Given the description of an element on the screen output the (x, y) to click on. 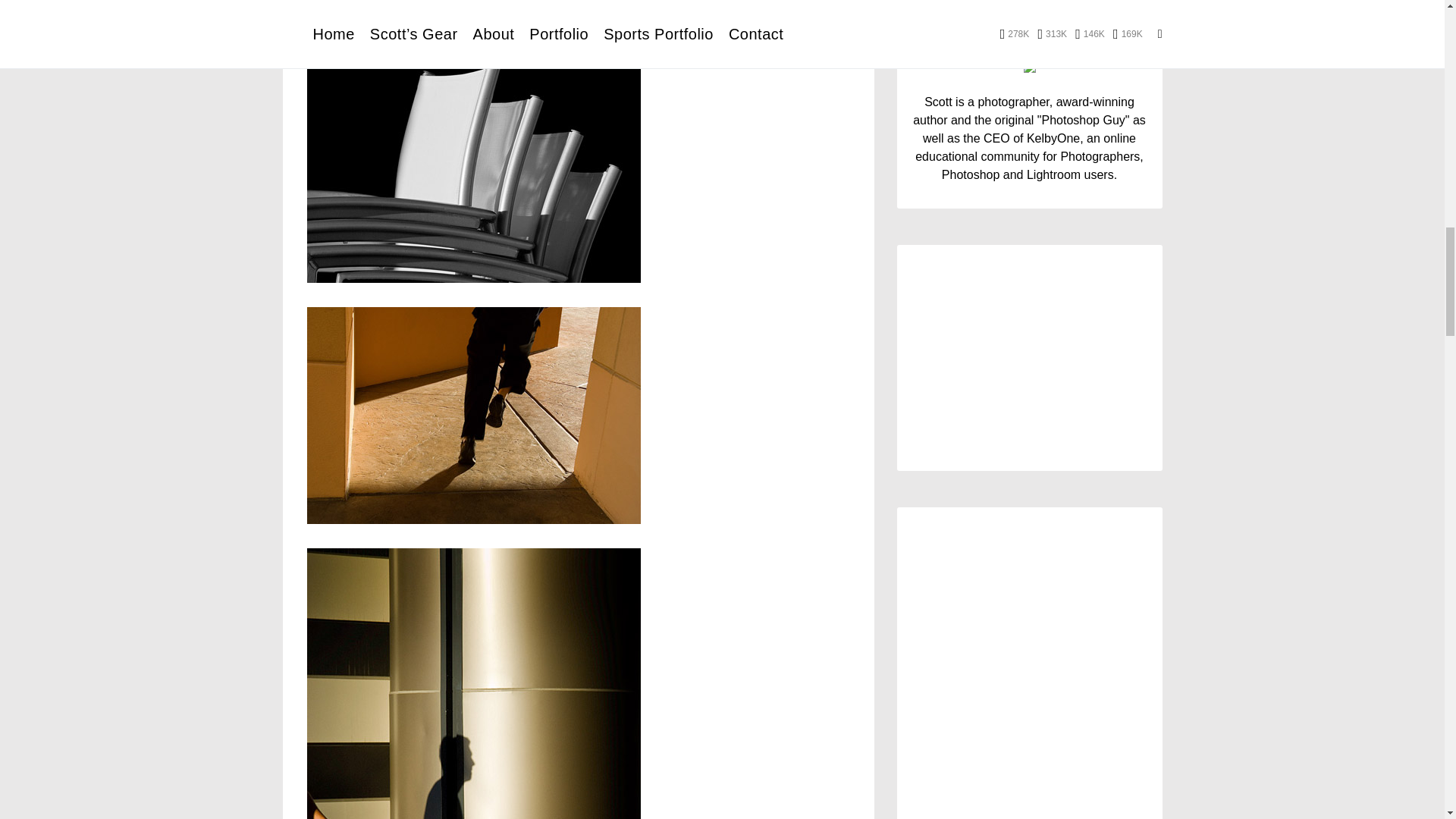
Thursday (1029, 341)
Saturday (1098, 341)
Friday (1063, 341)
Wednesday (994, 341)
Monday (925, 341)
valet-runsm.jpg (472, 413)
Sunday (1132, 341)
Submit (1028, 706)
Tuesday (959, 341)
mandalay-bay-chairssm.jpg (472, 169)
